Given the description of an element on the screen output the (x, y) to click on. 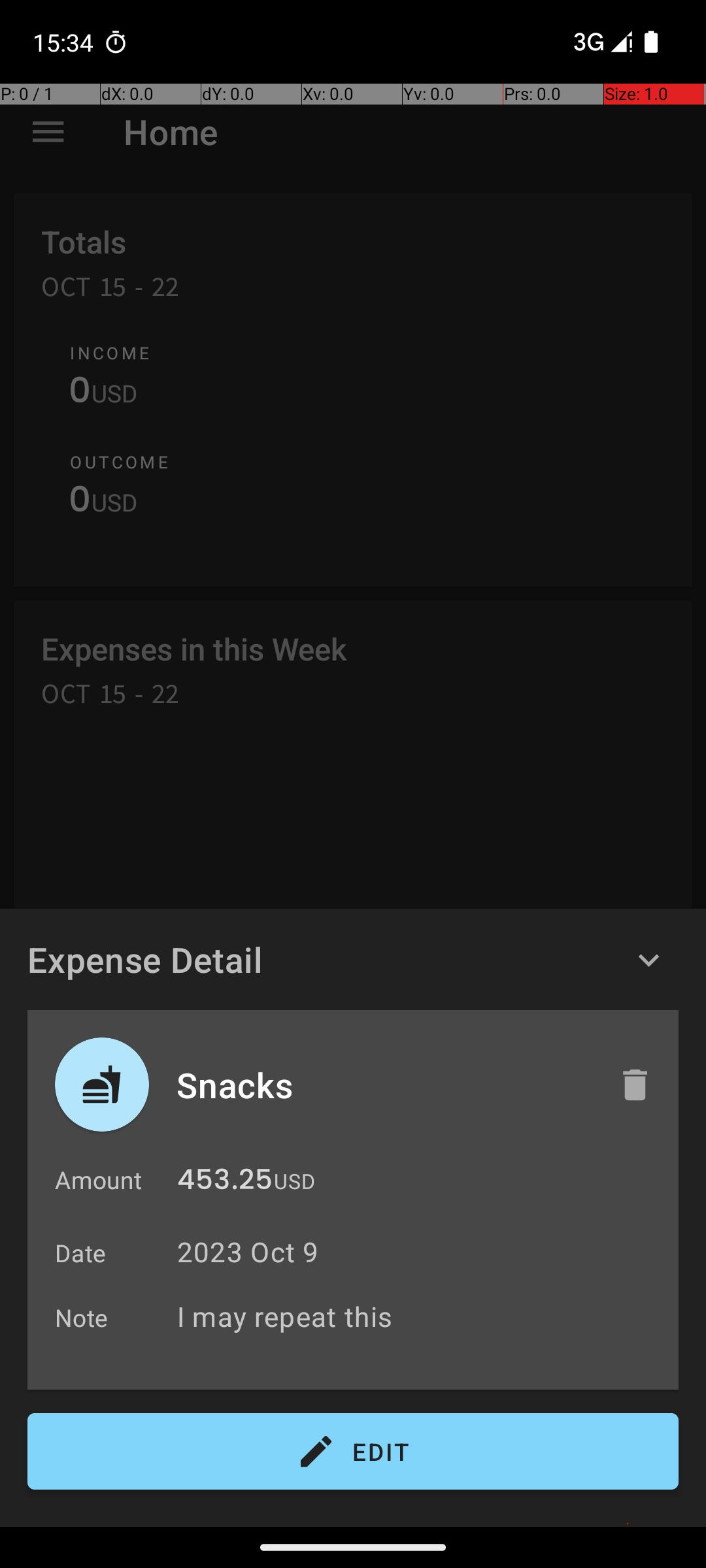
Snacks Element type: android.widget.TextView (383, 1084)
453.25 Element type: android.widget.TextView (224, 1182)
